Given the description of an element on the screen output the (x, y) to click on. 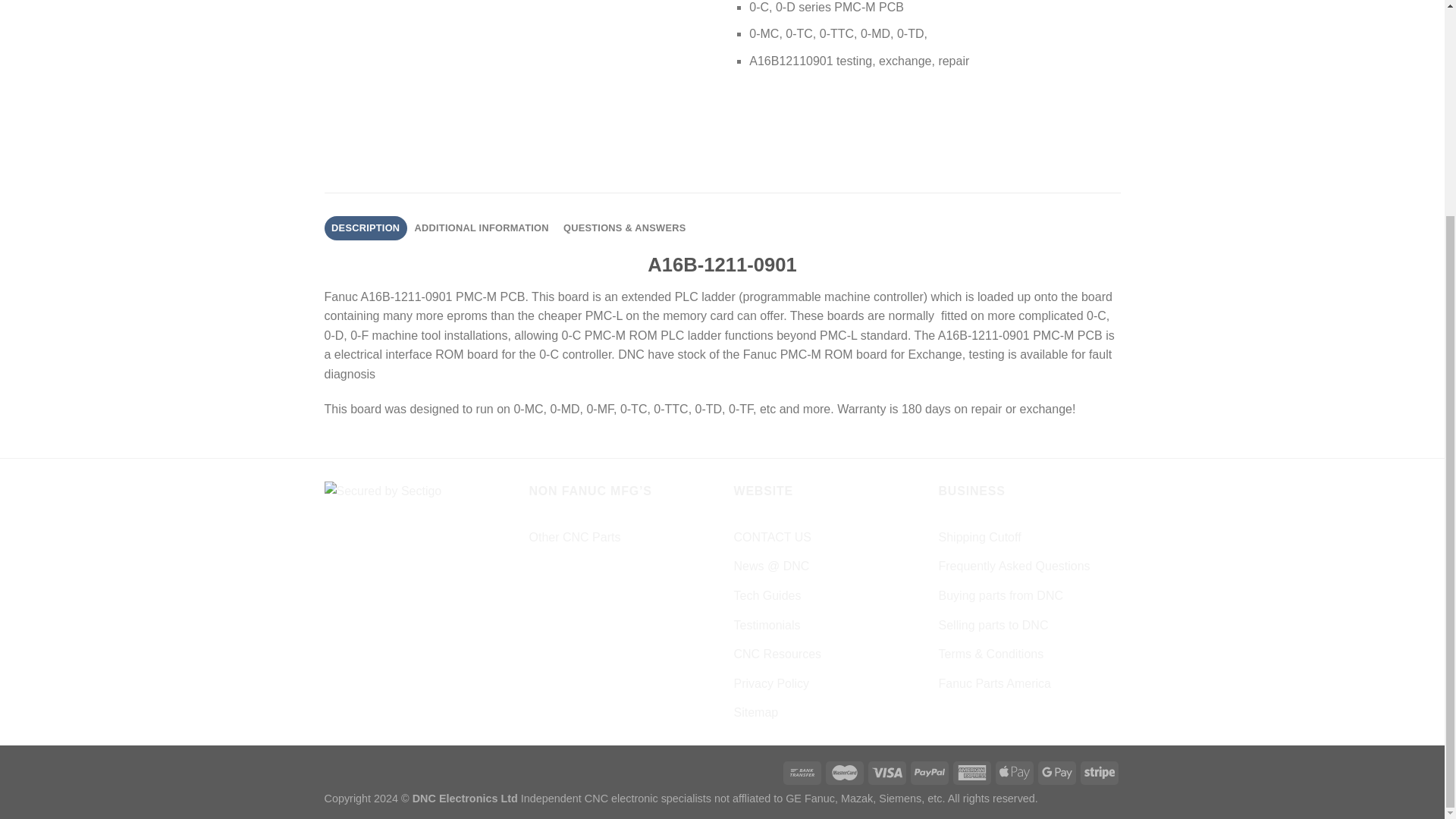
Testimonials (766, 624)
Tech Guides (767, 595)
DESCRIPTION (365, 228)
CONTACT US (772, 537)
ADDITIONAL INFORMATION (481, 228)
Other CNC Parts (575, 537)
